Given the description of an element on the screen output the (x, y) to click on. 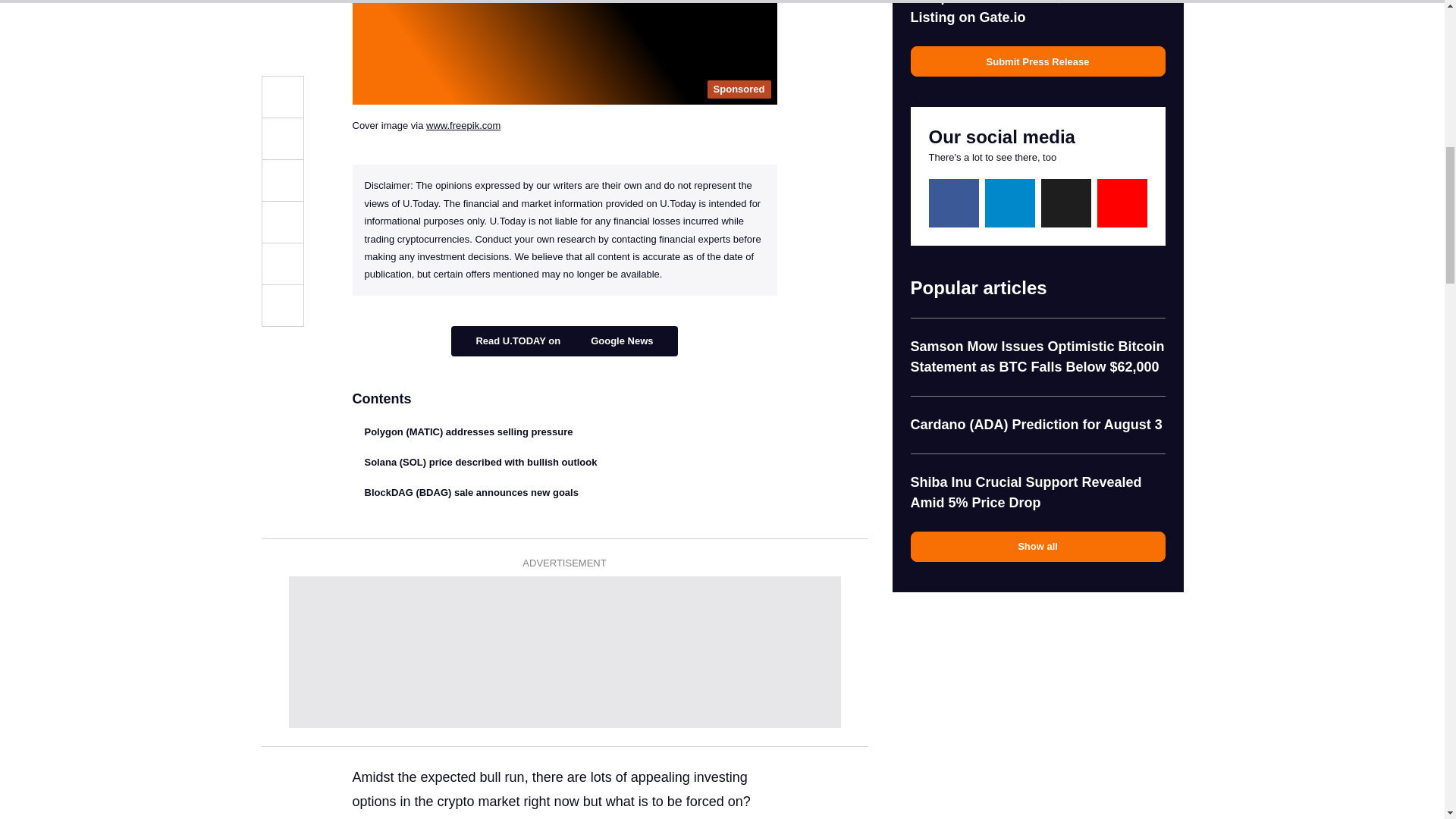
Share to Telegram (281, 26)
Share to Reddit (281, 3)
